Given the description of an element on the screen output the (x, y) to click on. 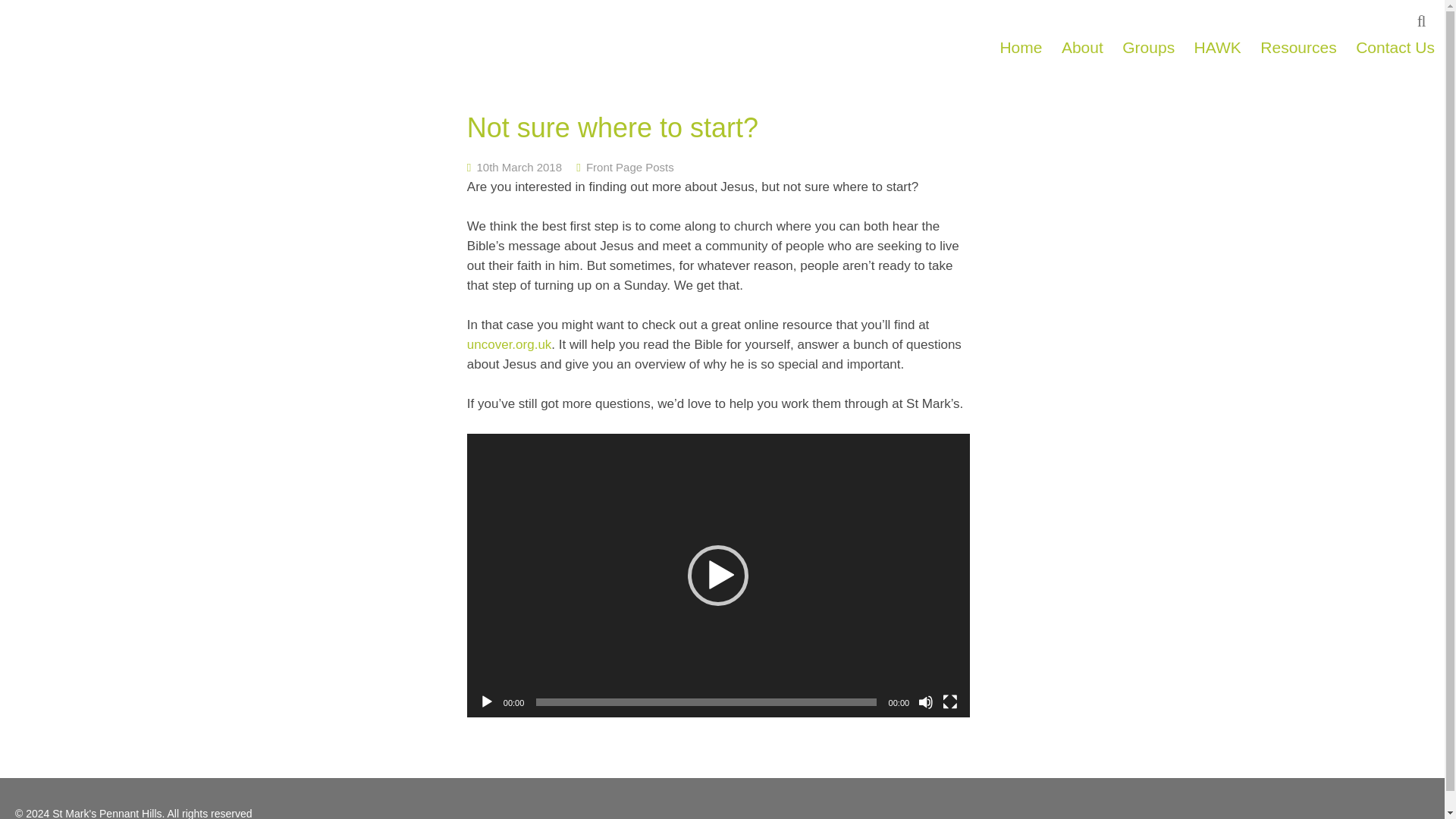
HAWK (1217, 47)
Groups (1148, 47)
About (1082, 47)
Search (1424, 18)
Search (1424, 18)
Mute (925, 702)
Search (1424, 18)
uncover.org.uk (509, 344)
Resources (1297, 47)
Contact Us (1395, 47)
Home (1020, 47)
Play (487, 702)
Fullscreen (950, 702)
